Given the description of an element on the screen output the (x, y) to click on. 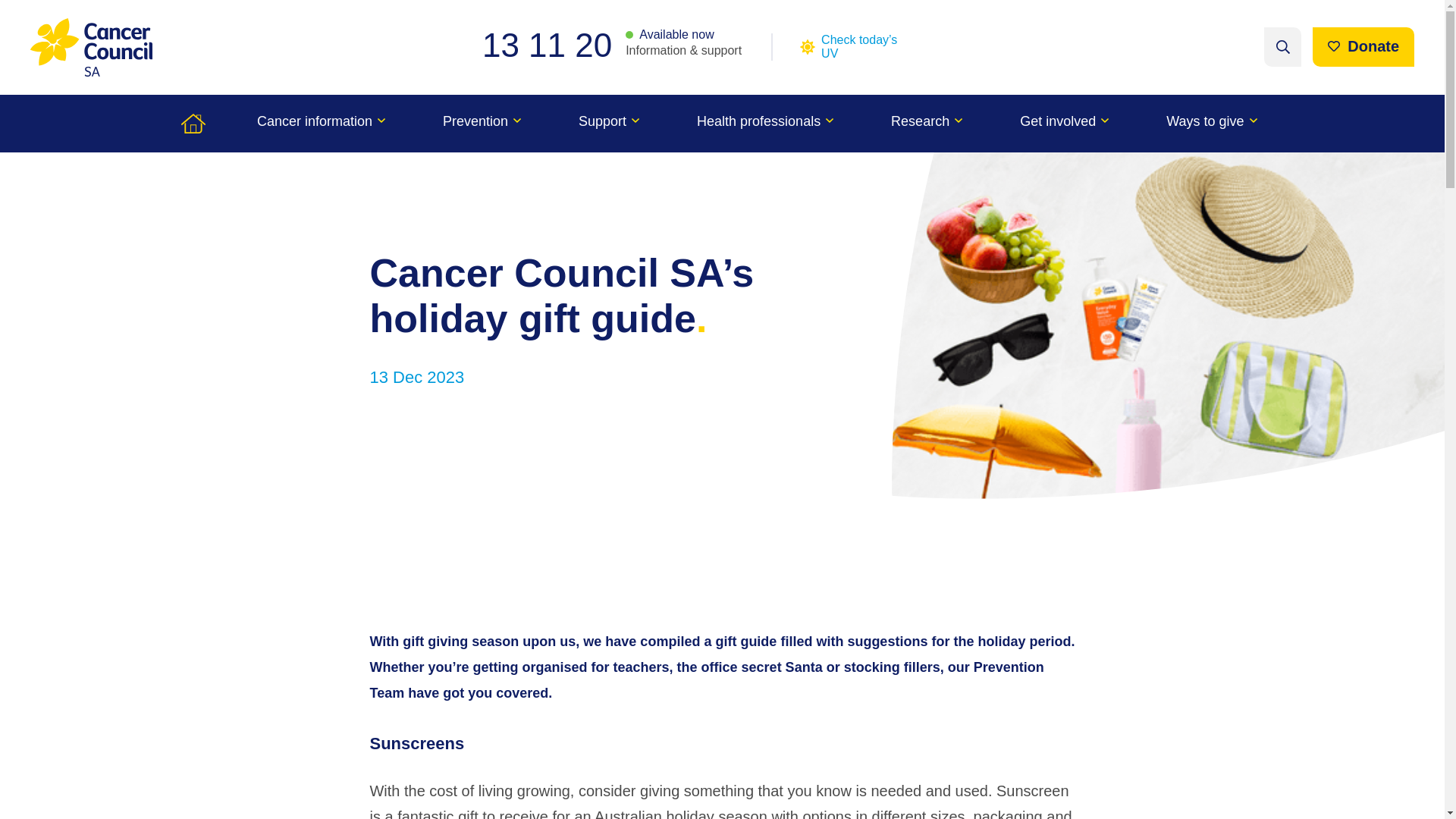
Cancer information (320, 123)
13 11 20 (553, 44)
Donate (1363, 46)
Available now (670, 34)
Prevention (481, 123)
Support (609, 123)
